Given the description of an element on the screen output the (x, y) to click on. 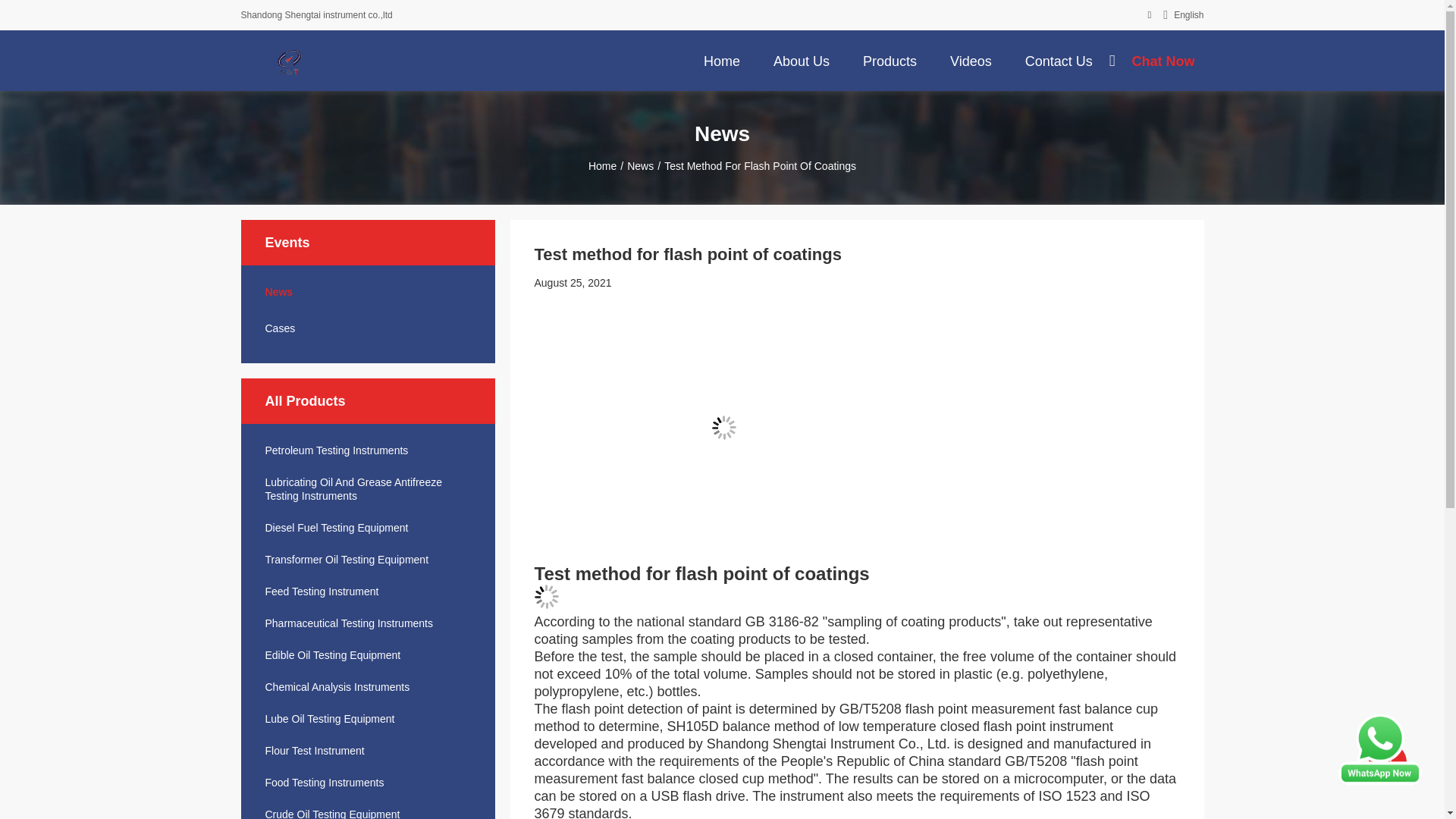
Home (721, 60)
Shandong Shengtai instrument co.,ltd (290, 60)
Products (889, 60)
Home (721, 60)
About Us (801, 60)
whatsapp Now (1380, 780)
About Us (801, 60)
